Given the description of an element on the screen output the (x, y) to click on. 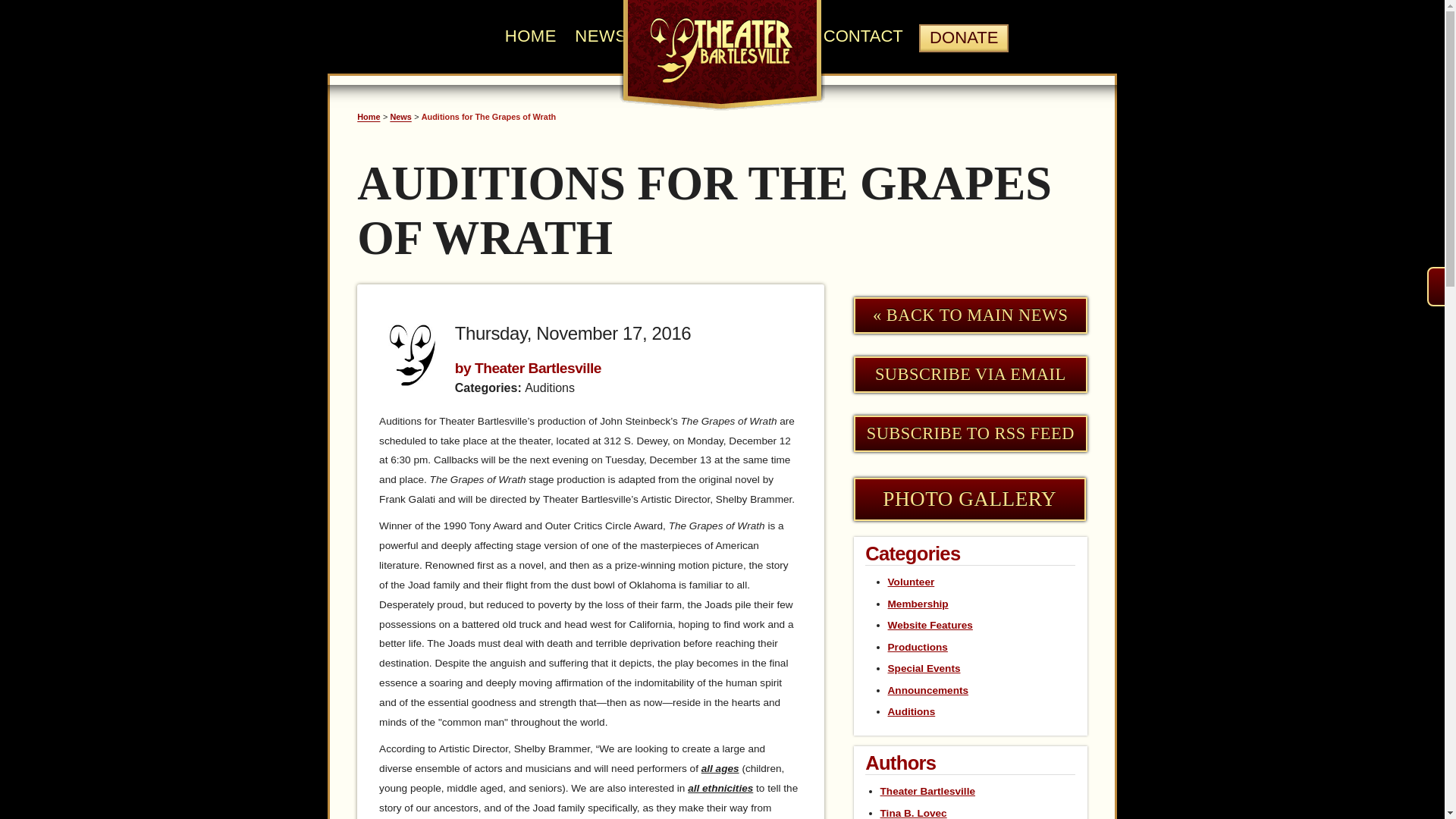
PHOTO GALLERY (969, 498)
SUBSCRIBE VIA EMAIL (970, 374)
Return to the main News page. (970, 315)
Special Events (924, 668)
CONTACT (863, 36)
SUBSCRIBE TO RSS FEED (970, 433)
Home (368, 117)
Auditions for The Grapes of Wrath (489, 117)
Subscribe to receive an email update of each new news post. (970, 374)
HOME (530, 36)
